Given the description of an element on the screen output the (x, y) to click on. 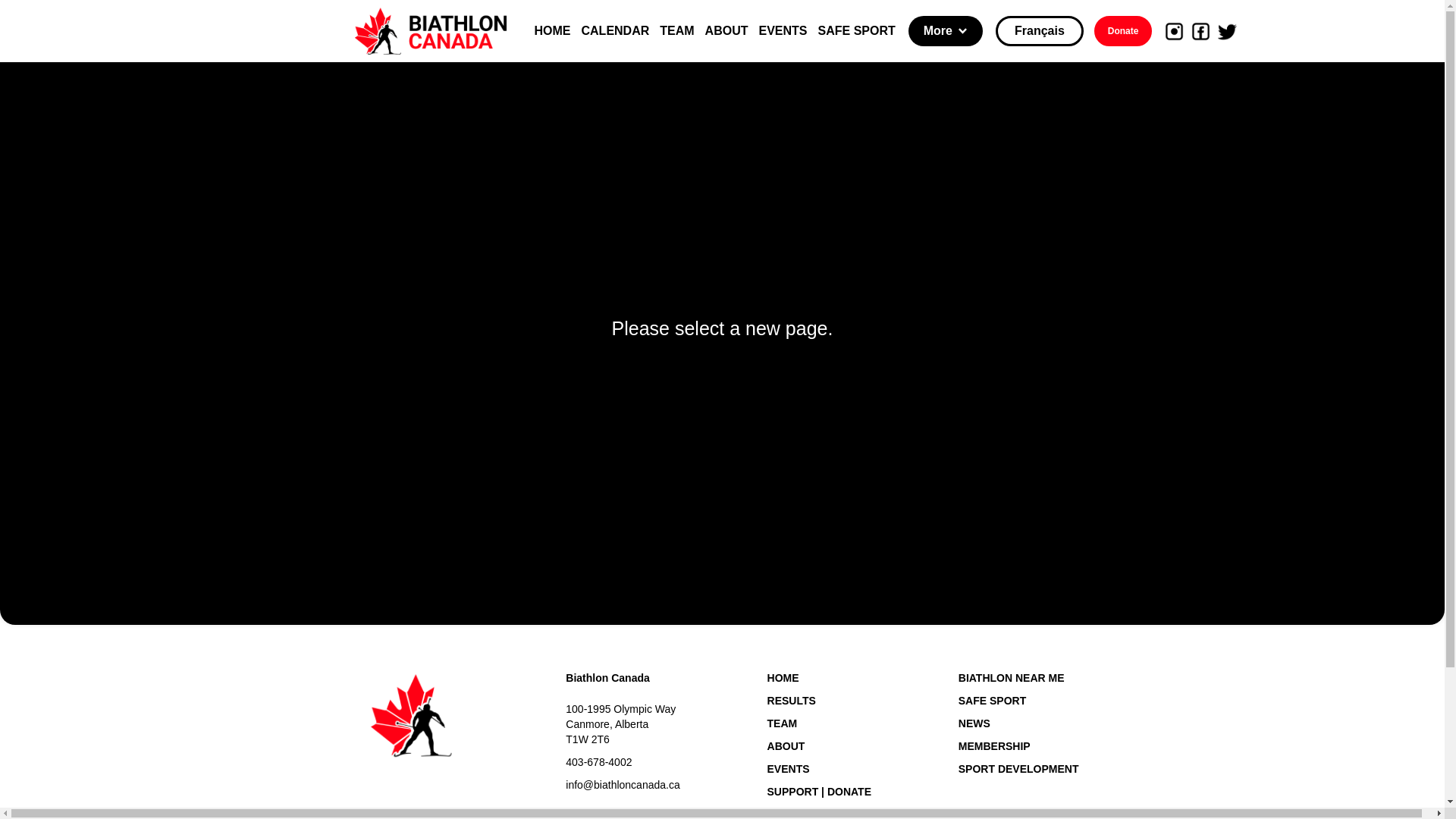
Donate Element type: text (1123, 30)
HOME Element type: text (819, 677)
TEAM Element type: text (676, 30)
403-678-4002 Element type: text (622, 761)
SAFE SPORT Element type: text (1018, 700)
HOME Element type: text (551, 30)
NEWS Element type: text (1018, 723)
RESULTS Element type: text (819, 700)
100-1995 Olympic Way
Canmore, Alberta
T1W 2T6 Element type: text (622, 723)
ABOUT Element type: text (726, 30)
BIATHLON NEAR ME Element type: text (1018, 677)
TEAM Element type: text (819, 723)
SUPPORT | DONATE Element type: text (819, 791)
info@biathloncanada.ca Element type: text (622, 784)
SAFE SPORT Element type: text (856, 30)
CALENDAR Element type: text (614, 30)
EVENTS Element type: text (819, 768)
ABOUT Element type: text (819, 745)
EVENTS Element type: text (782, 30)
MEMBERSHIP Element type: text (1018, 745)
SPORT DEVELOPMENT Element type: text (1018, 768)
